Given the description of an element on the screen output the (x, y) to click on. 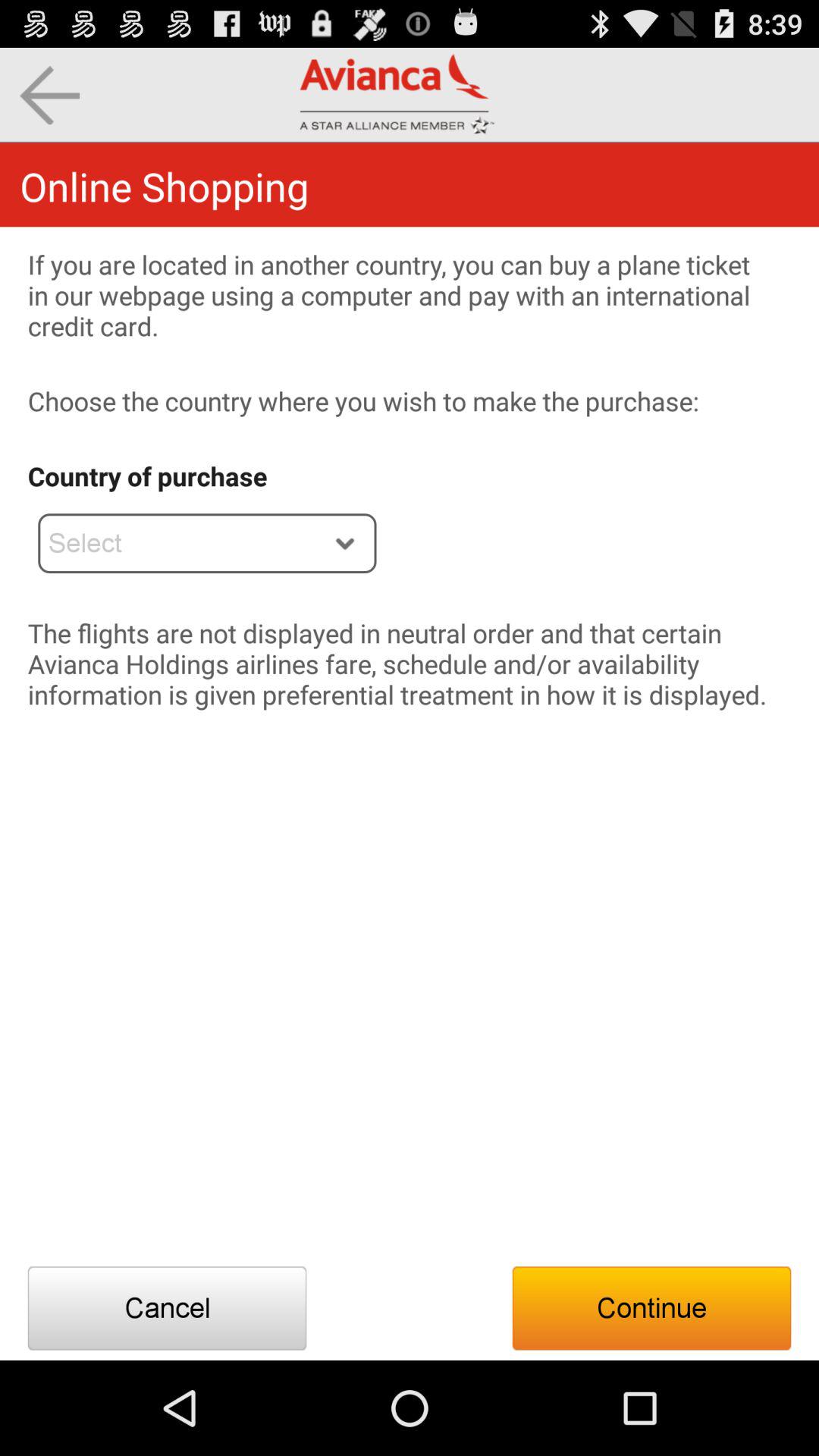
scroll to the continue button (651, 1308)
